Given the description of an element on the screen output the (x, y) to click on. 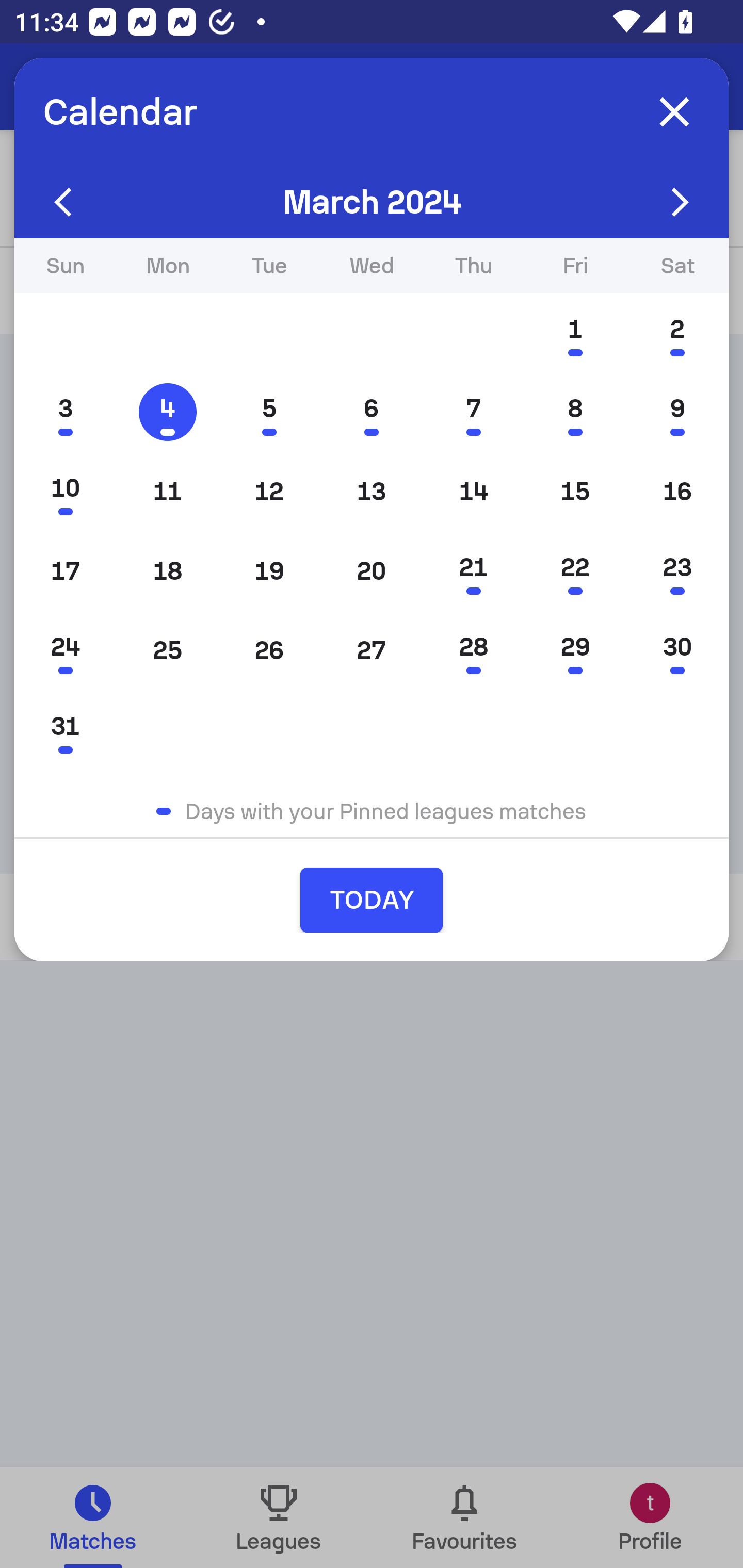
Handball (124, 86)
1 (575, 333)
2 (677, 333)
3 (65, 412)
4 (167, 412)
5 (269, 412)
6 (371, 412)
7 (473, 412)
8 (575, 412)
9 (677, 412)
10 (65, 491)
11 (167, 491)
12 (269, 491)
13 (371, 491)
14 (473, 491)
15 (575, 491)
16 (677, 491)
17 (65, 570)
18 (167, 570)
19 (269, 570)
20 (371, 570)
21 (473, 570)
22 (575, 570)
23 (677, 570)
24 (65, 649)
25 (167, 649)
26 (269, 649)
27 (371, 649)
28 (473, 649)
29 (575, 649)
30 (677, 649)
31 (65, 729)
TODAY (371, 899)
Leagues (278, 1517)
Favourites (464, 1517)
Profile (650, 1517)
